Given the description of an element on the screen output the (x, y) to click on. 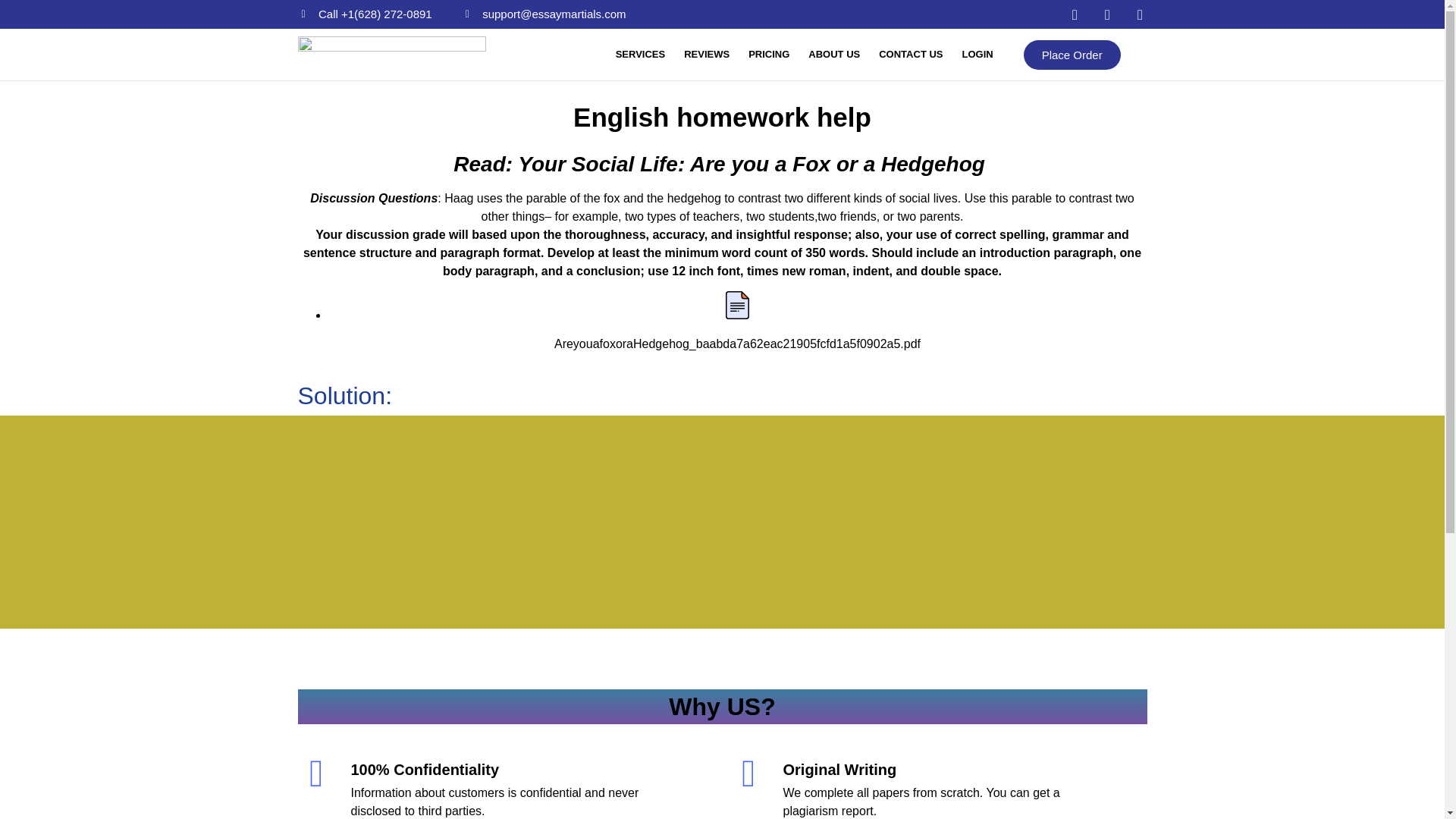
CONTACT US (910, 54)
LOGIN (976, 54)
Place Order (1072, 53)
REVIEWS (706, 54)
SERVICES (640, 54)
ABOUT US (834, 54)
PRICING (769, 54)
